Given the description of an element on the screen output the (x, y) to click on. 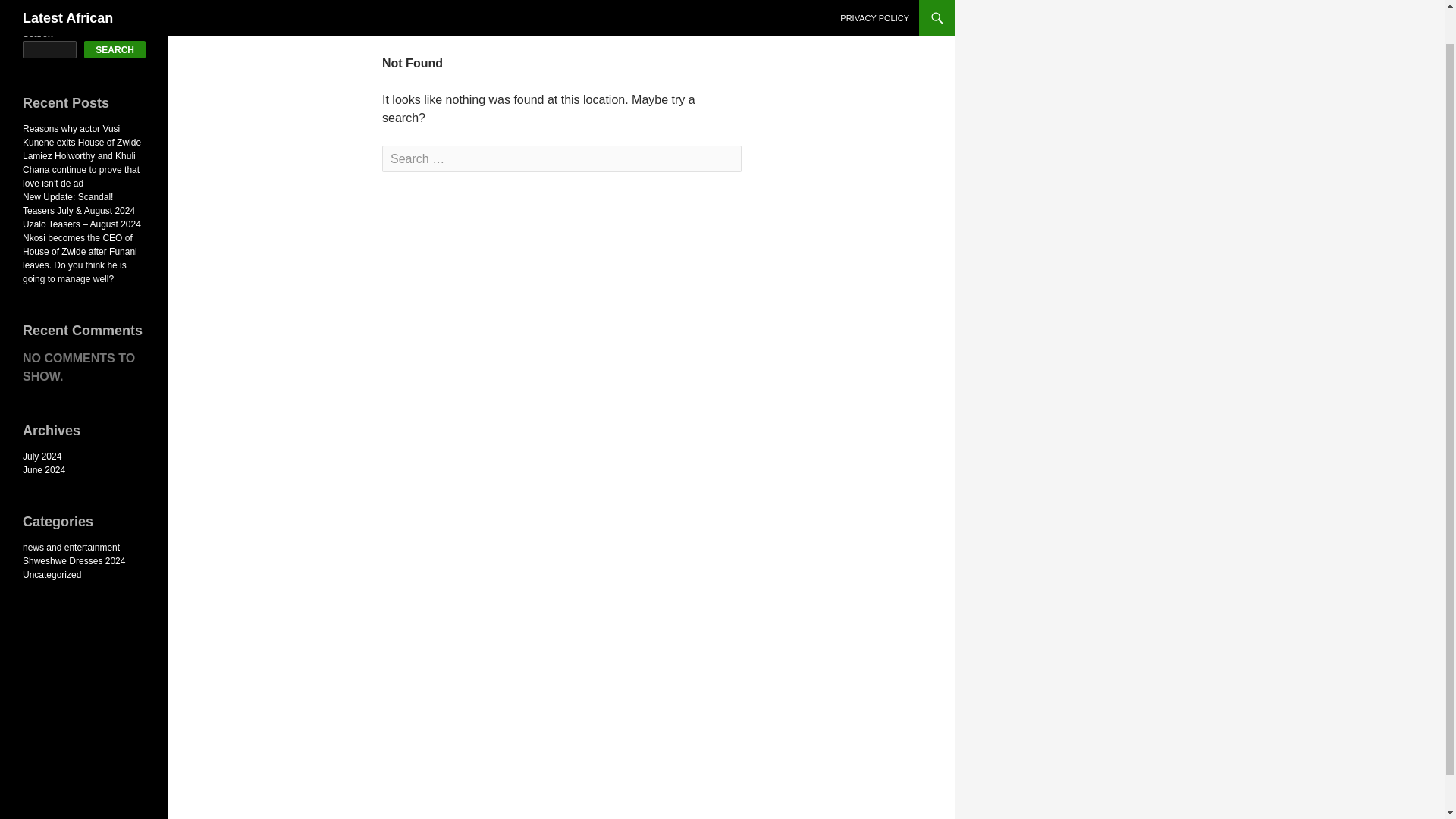
Reasons why actor Vusi Kunene exits House of Zwide (82, 135)
Uncategorized (52, 574)
news and entertainment (71, 547)
June 2024 (44, 470)
SEARCH (114, 49)
Shweshwe Dresses 2024 (74, 561)
July 2024 (42, 456)
